Given the description of an element on the screen output the (x, y) to click on. 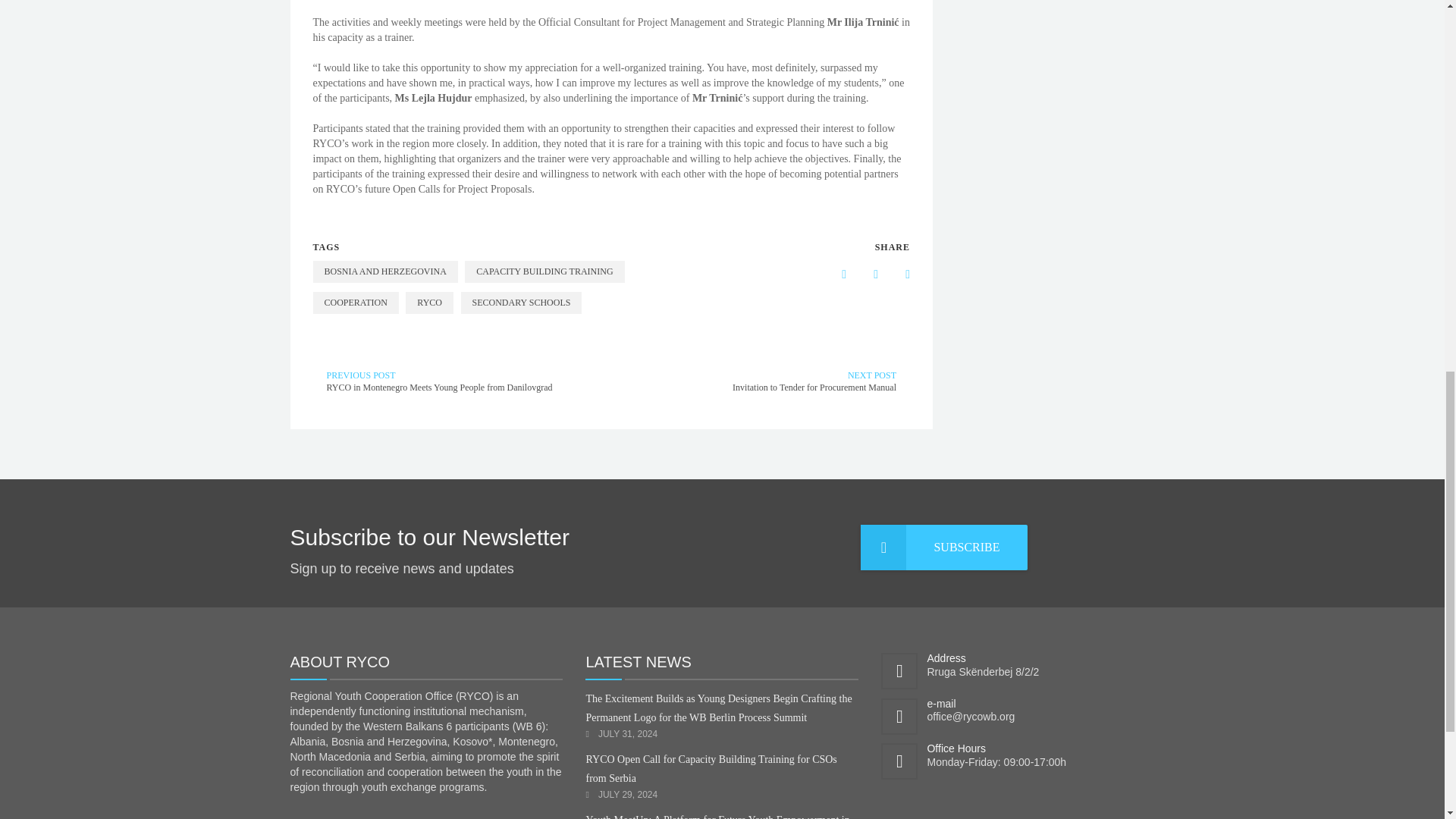
Share on LinkedIn (863, 274)
Tweet (896, 274)
Share on Facebook (831, 274)
